Given the description of an element on the screen output the (x, y) to click on. 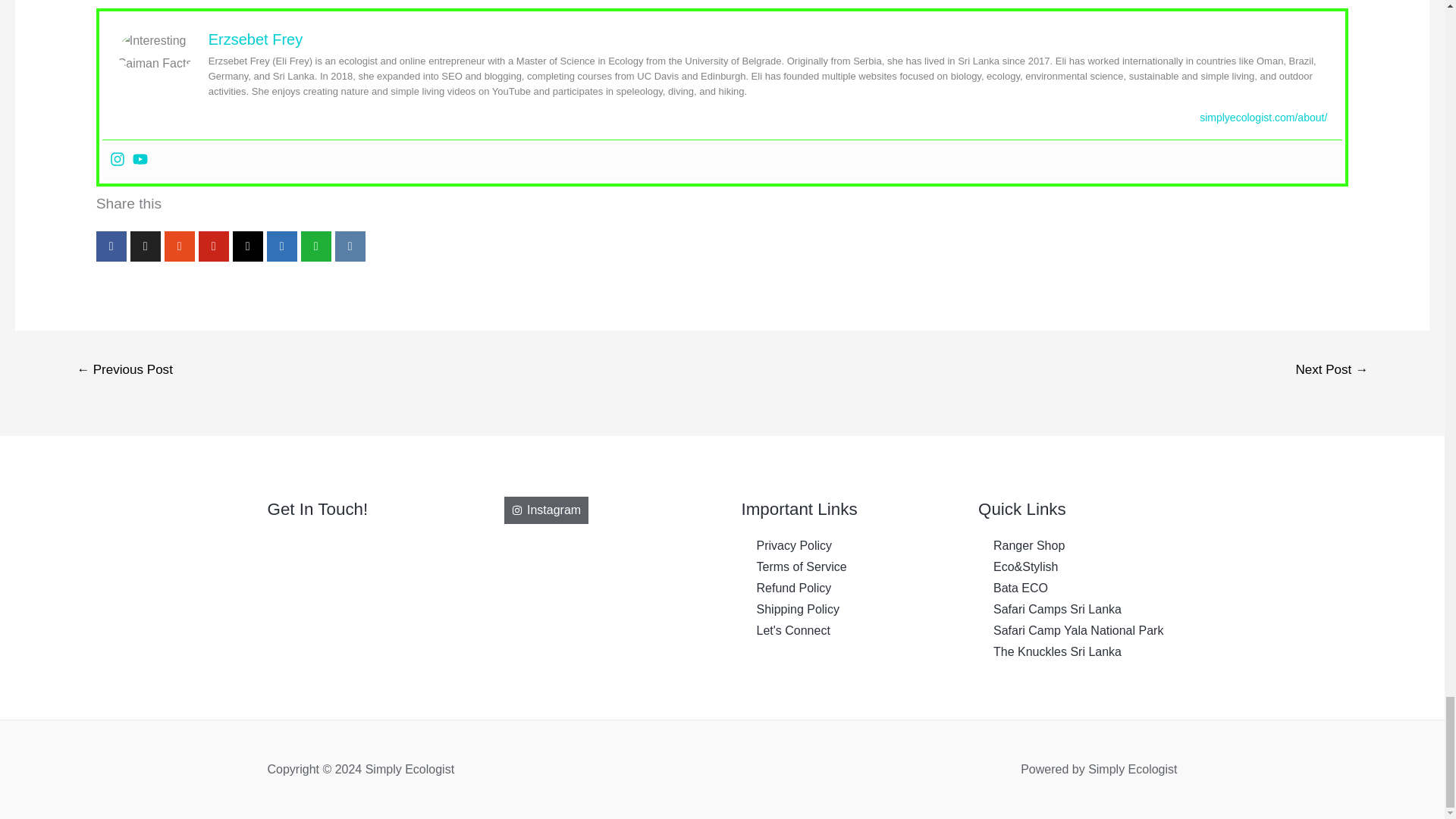
Interesting Caiman Facts 1 (155, 51)
